Given the description of an element on the screen output the (x, y) to click on. 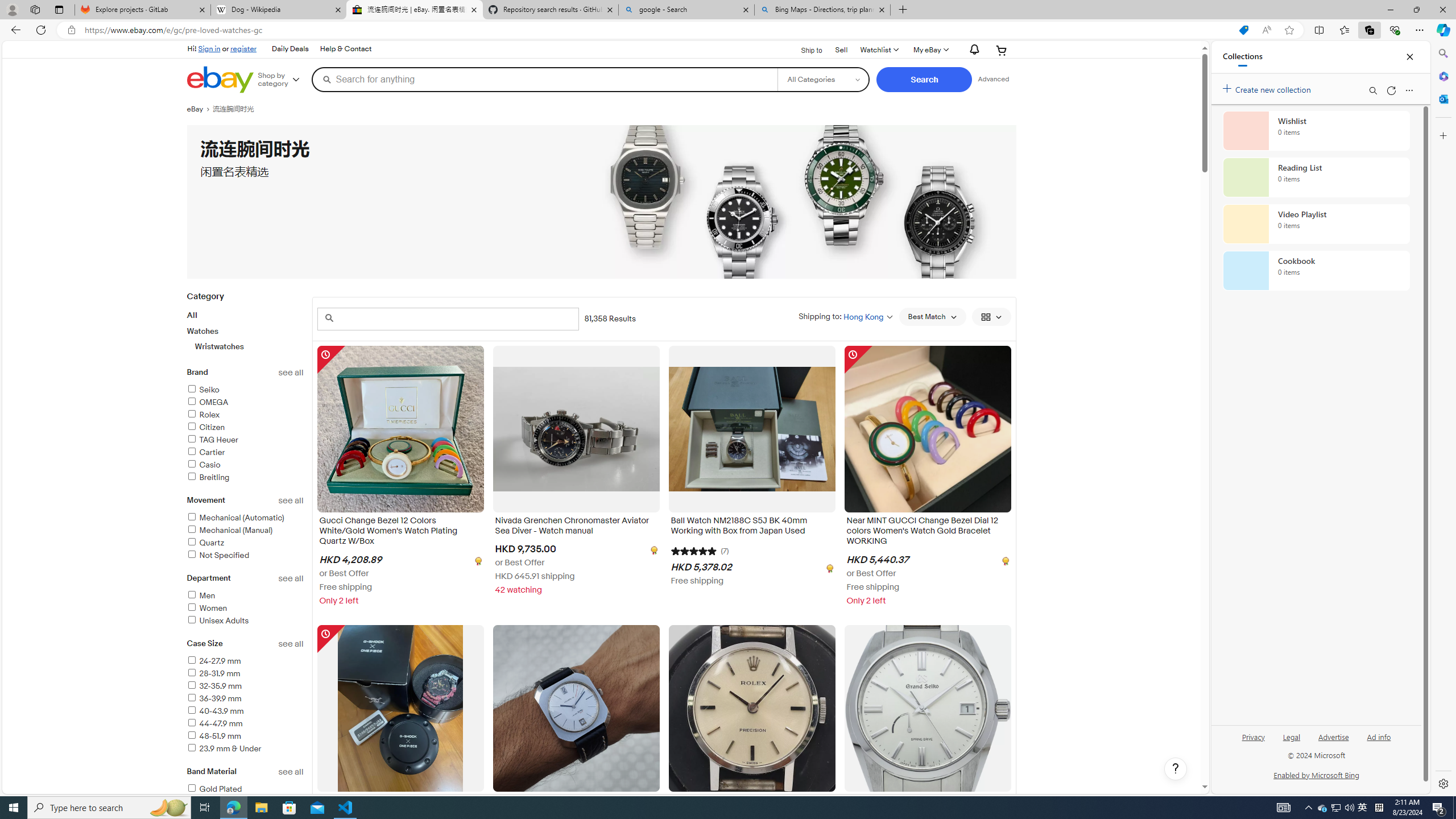
Expand Cart (1001, 49)
24-27.9 mm (245, 661)
CategoryAllWatchesWristwatches (245, 327)
[object Undefined] (1004, 560)
AutomationID: gh-eb-Alerts (972, 49)
Your shopping cart (1001, 49)
Gold Plated (245, 789)
See all department refinements (291, 578)
Breitling (208, 477)
eBay Home (219, 79)
